Given the description of an element on the screen output the (x, y) to click on. 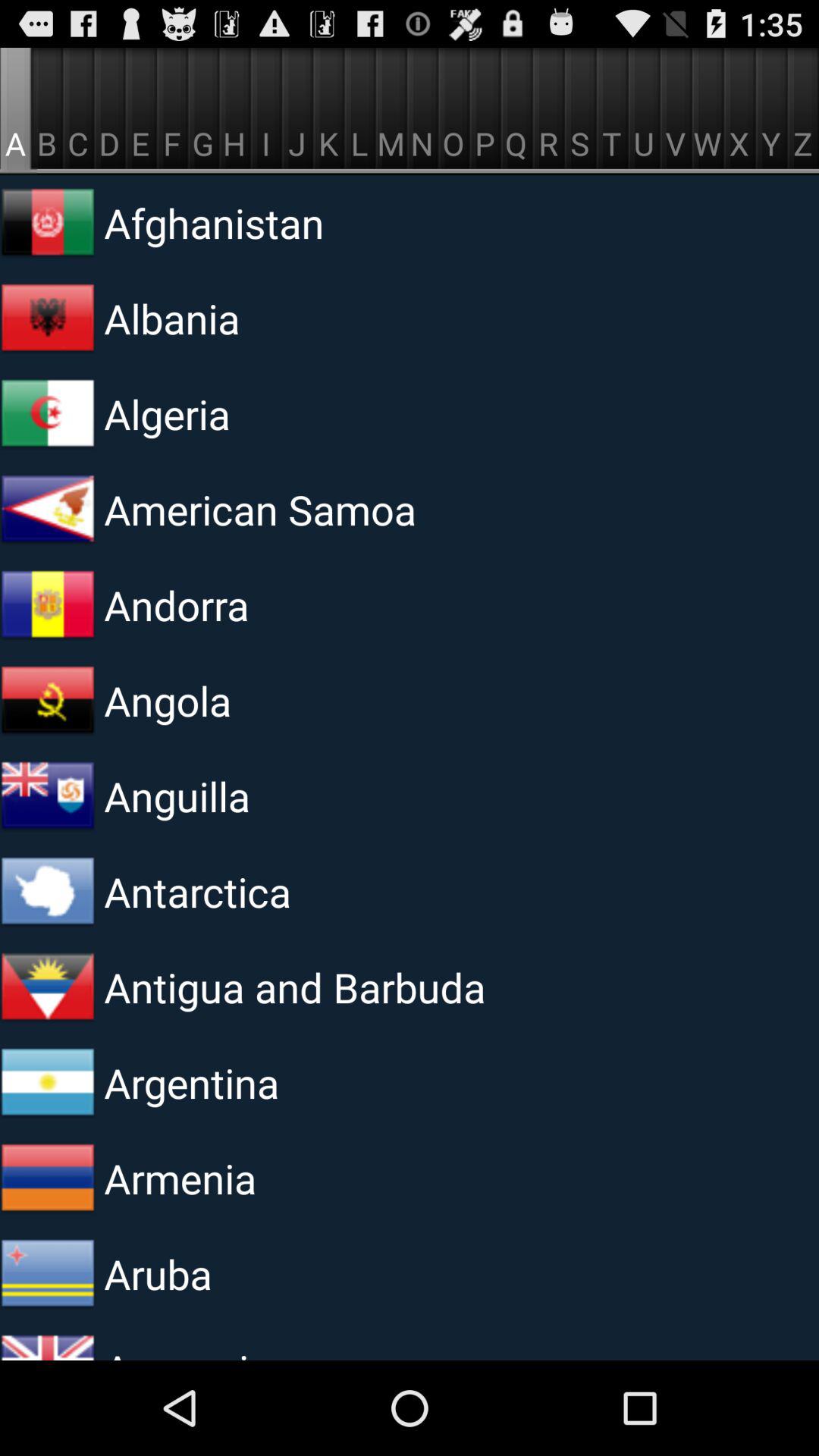
turn on the icon below the a item (47, 222)
